Given the description of an element on the screen output the (x, y) to click on. 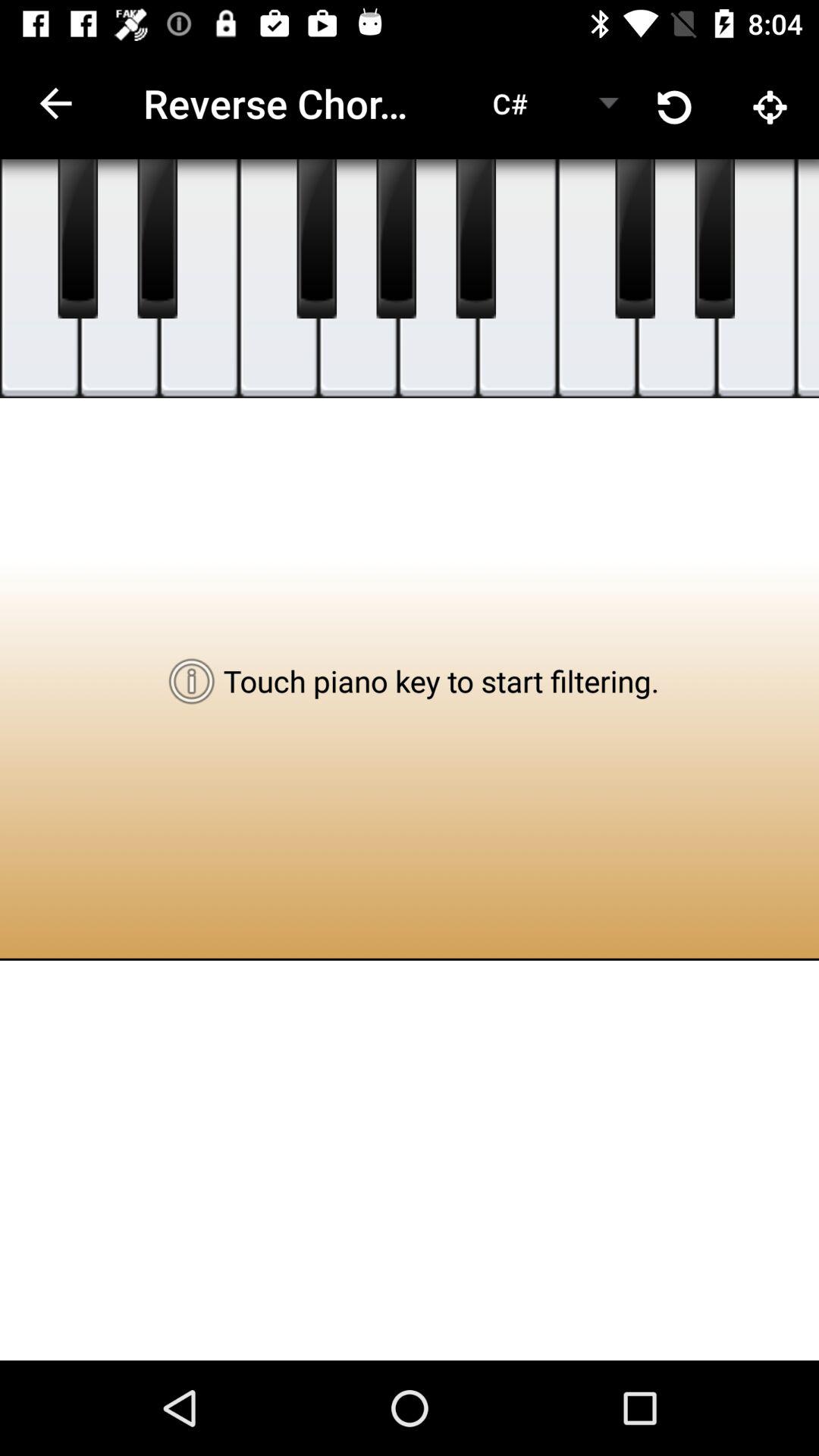
choose the note (358, 278)
